Given the description of an element on the screen output the (x, y) to click on. 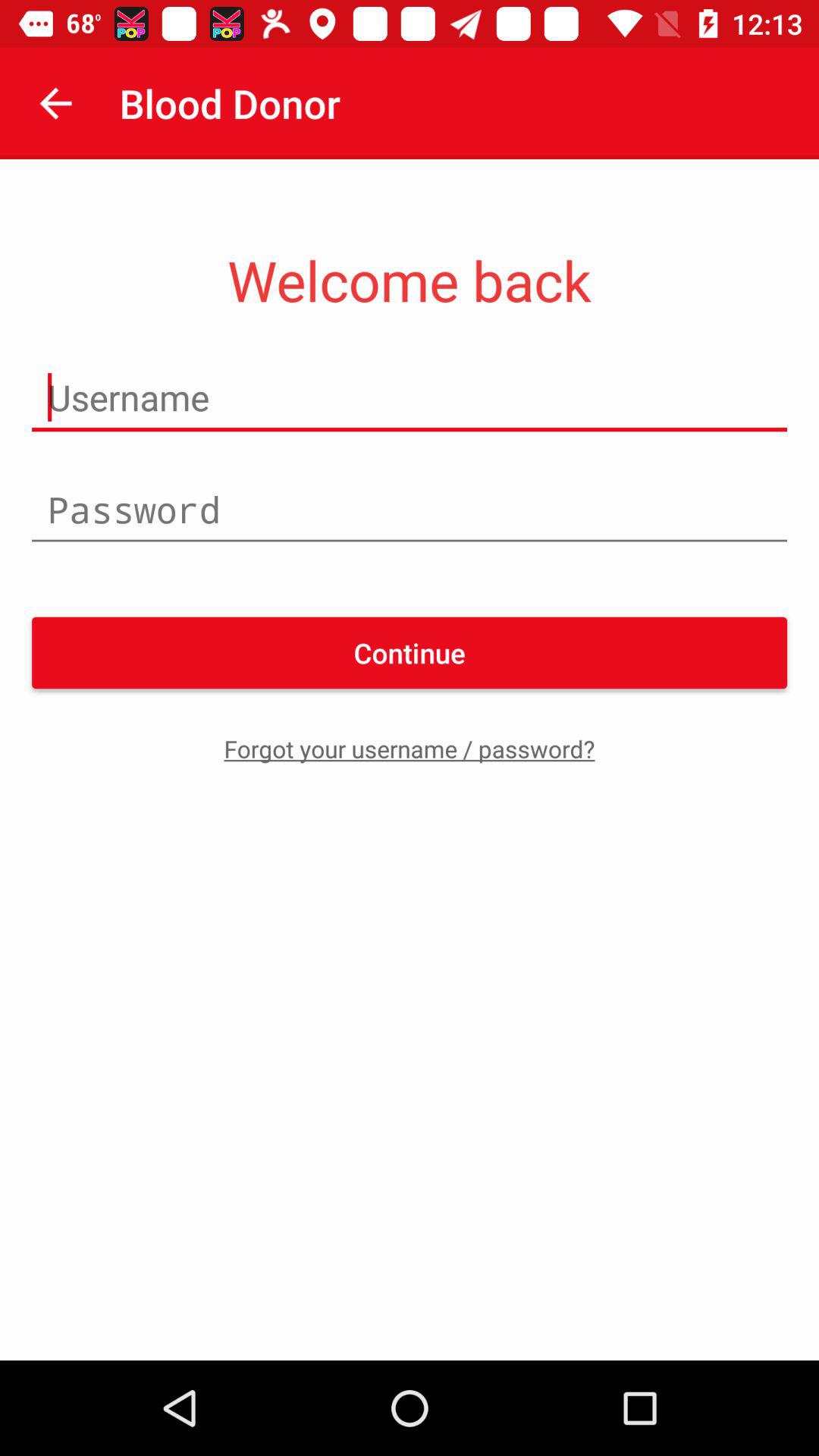
flip until the forgot your username item (409, 748)
